Given the description of an element on the screen output the (x, y) to click on. 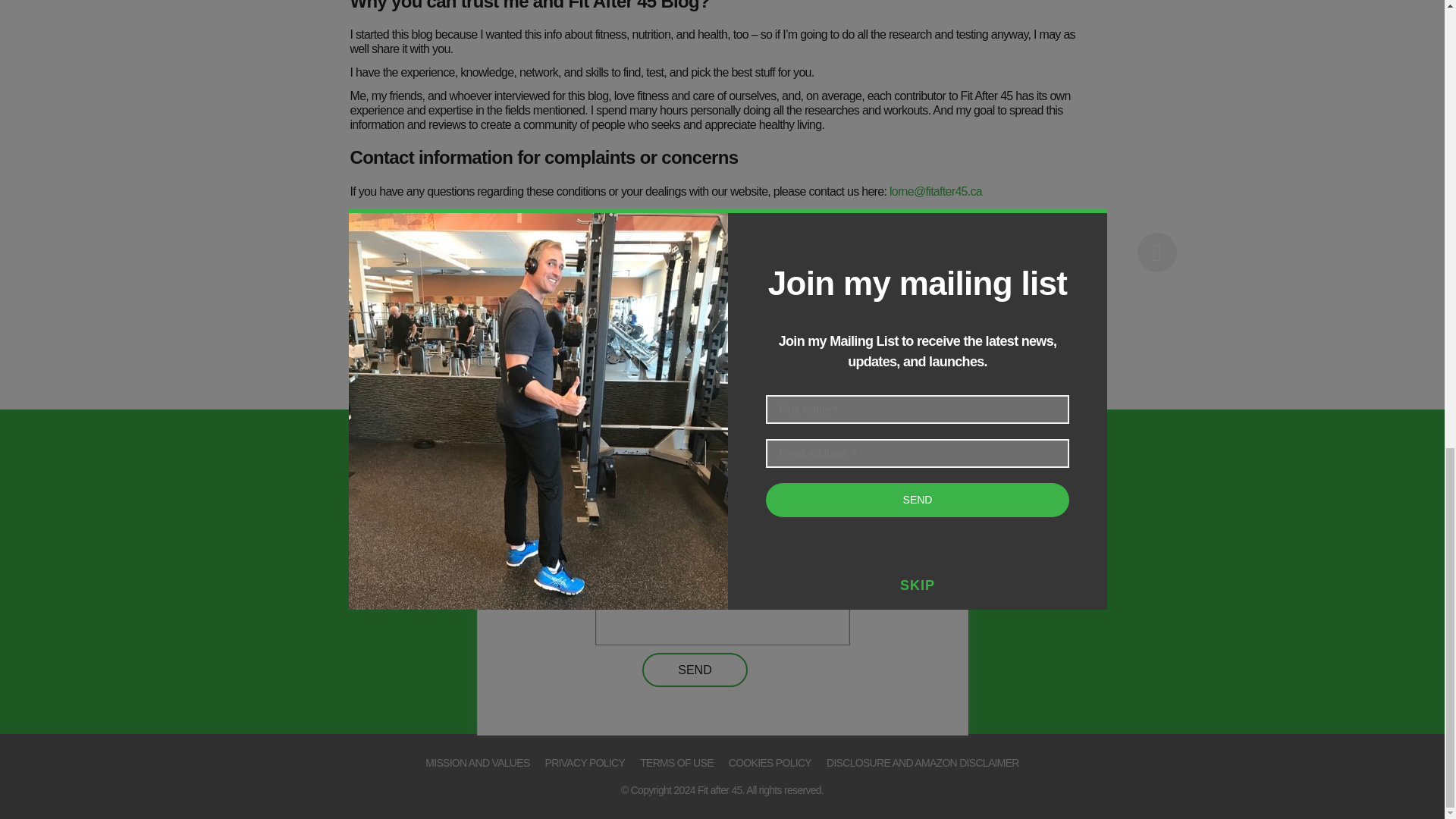
Send (694, 669)
Send (694, 669)
